Given the description of an element on the screen output the (x, y) to click on. 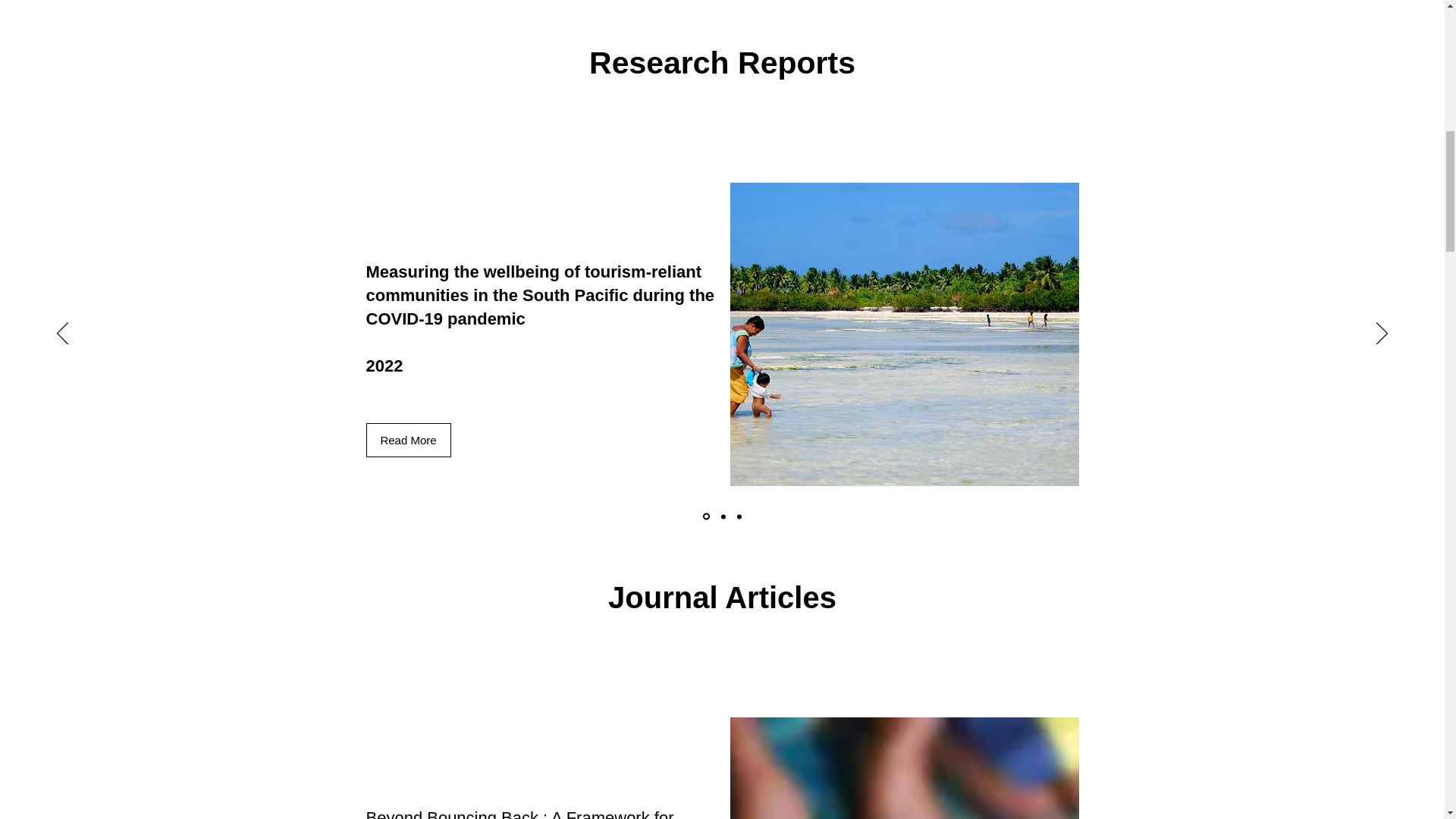
Read More (407, 440)
